Given the description of an element on the screen output the (x, y) to click on. 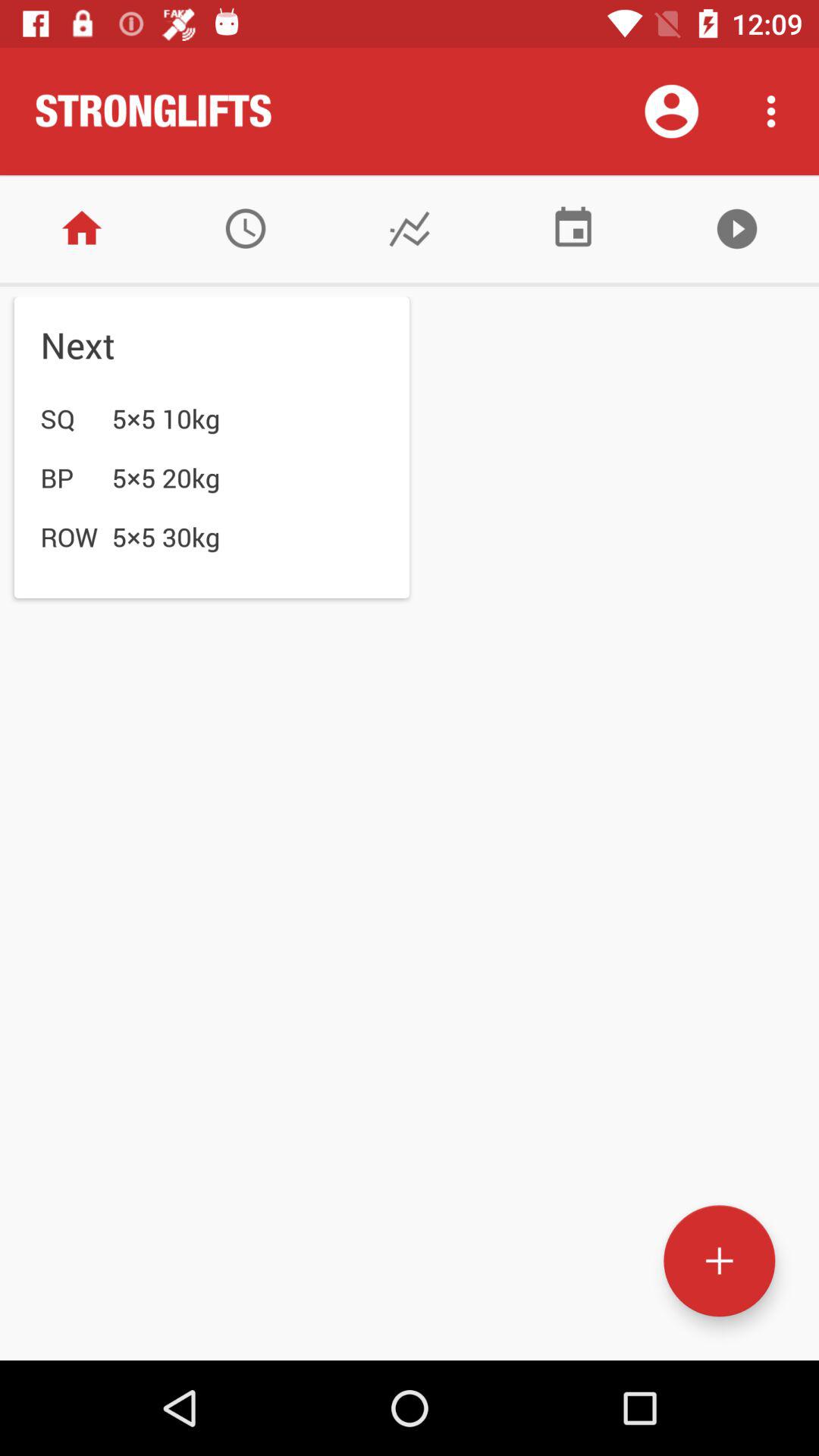
item history (245, 228)
